Given the description of an element on the screen output the (x, y) to click on. 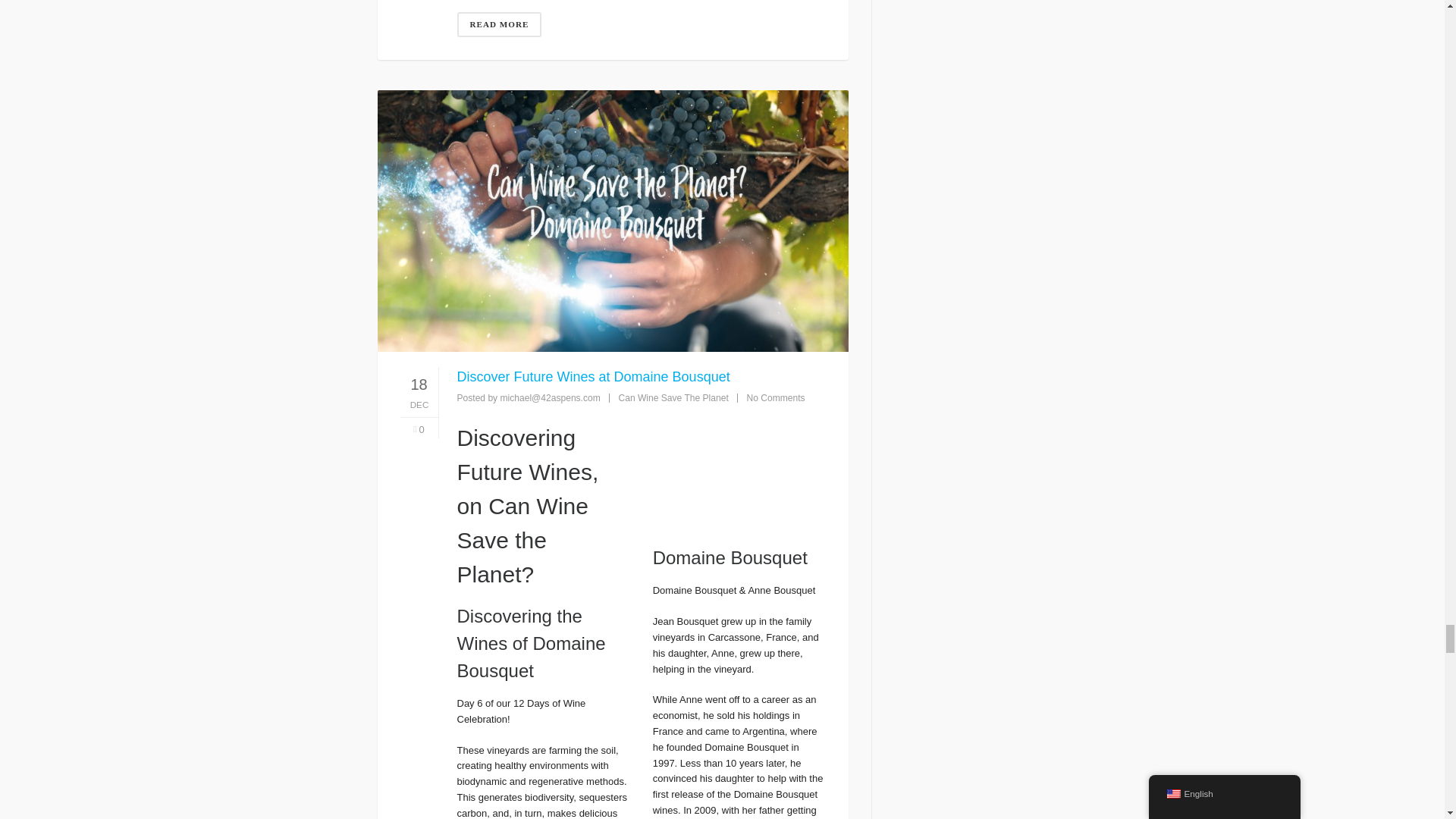
No Comments (775, 398)
